Given the description of an element on the screen output the (x, y) to click on. 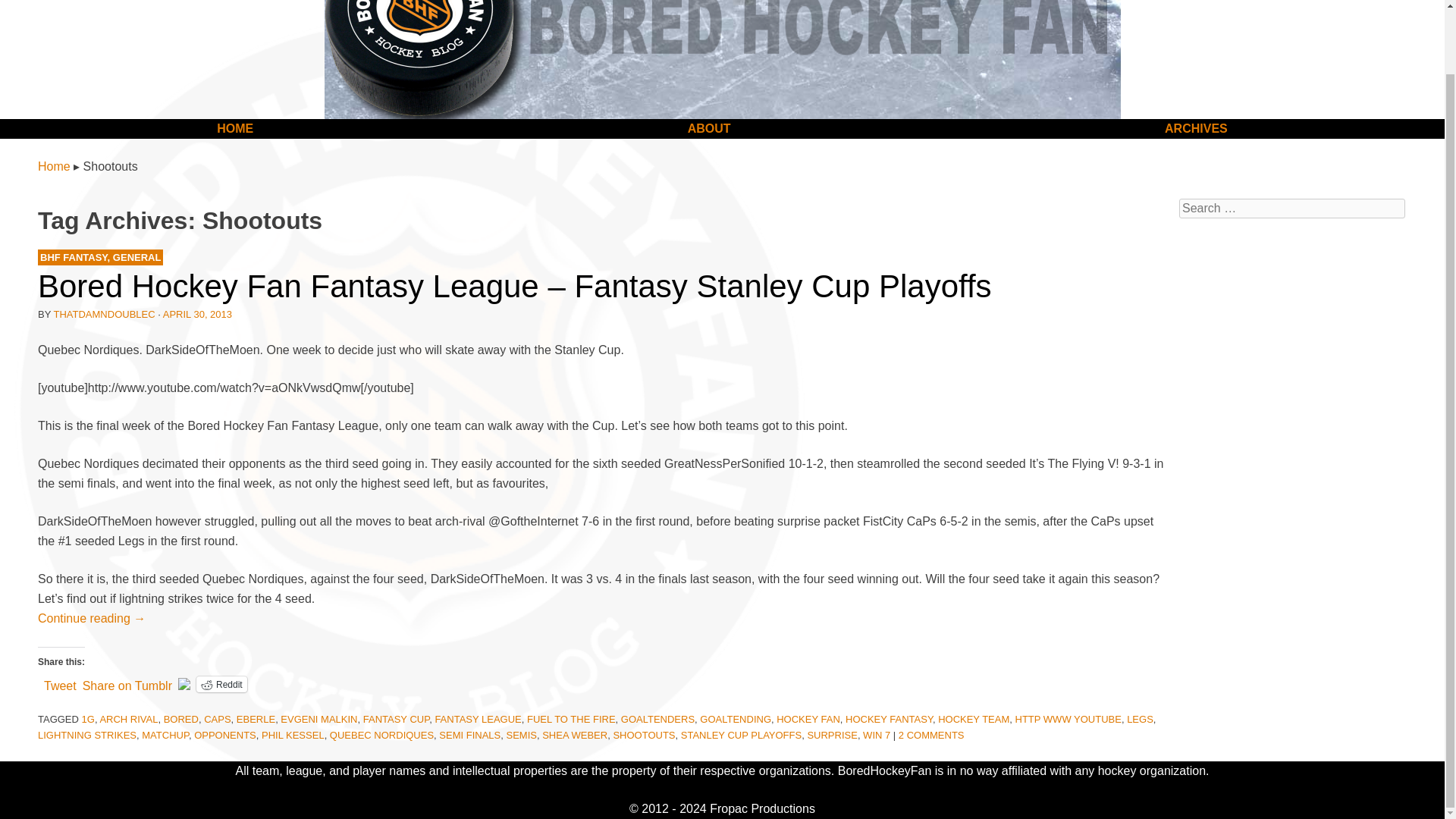
LEGS (1139, 718)
OPPONENTS (224, 735)
CAPS (216, 718)
FANTASY CUP (395, 718)
1G (87, 718)
ARCH RIVAL (128, 718)
MATCHUP (165, 735)
Click to share on Reddit (221, 684)
Share on Tumblr (126, 683)
Share on Tumblr (126, 683)
EVGENI MALKIN (318, 718)
APRIL 30, 2013 (197, 314)
GENERAL (137, 256)
5:11 am (197, 314)
GOALTENDING (735, 718)
